Given the description of an element on the screen output the (x, y) to click on. 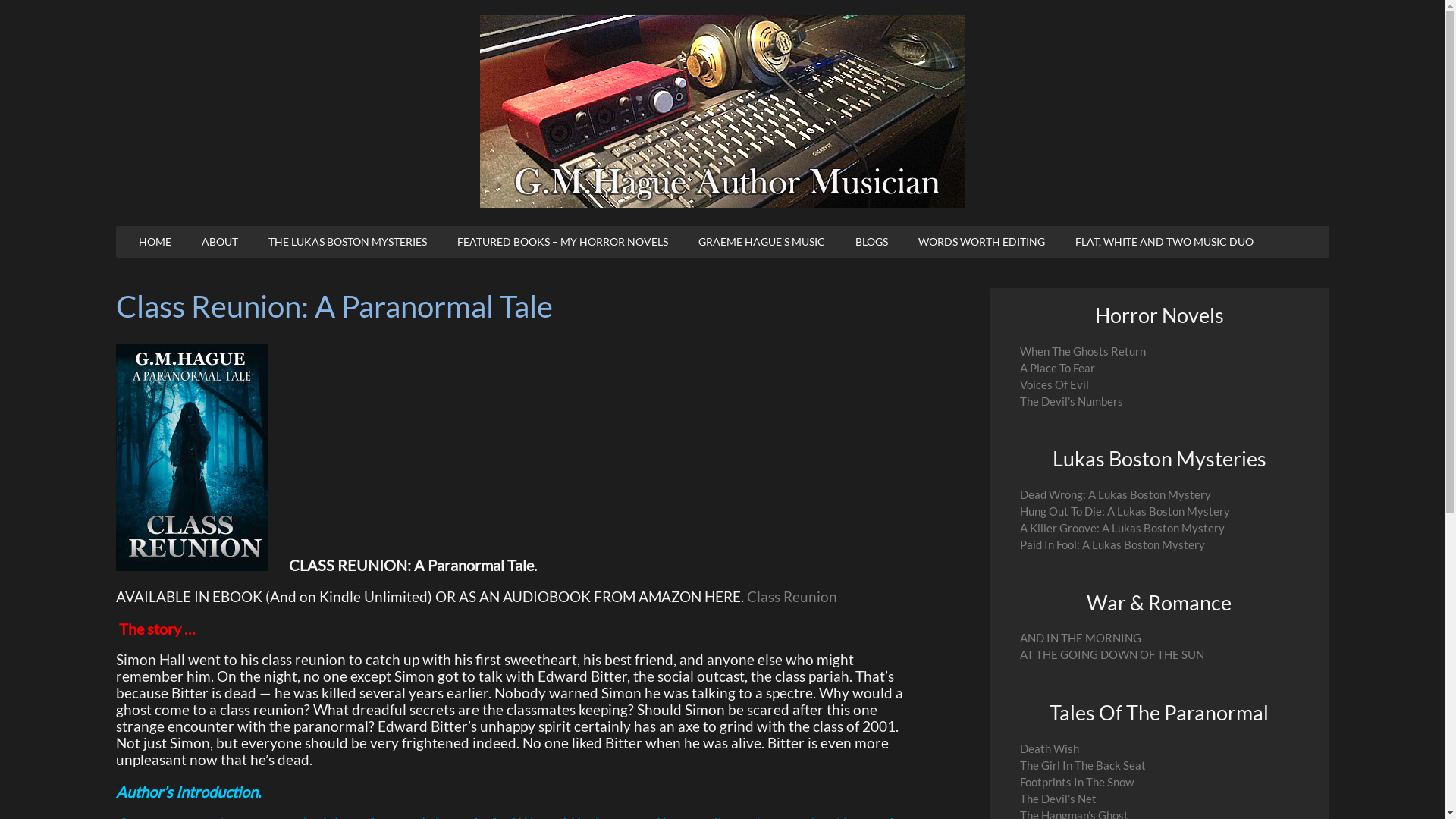
Death Wish Element type: text (1048, 748)
Dead Wrong: A Lukas Boston Mystery Element type: text (1114, 494)
Class Reunion: A Paranormal Tale Element type: text (333, 306)
Paid In Fool: A Lukas Boston Mystery Element type: text (1111, 544)
FLAT, WHITE AND TWO MUSIC DUO Element type: text (1164, 241)
AND IN THE MORNING Element type: text (1079, 637)
BLOGS Element type: text (871, 241)
A Killer Groove: A Lukas Boston Mystery Element type: text (1121, 527)
Footprints In The Snow Element type: text (1075, 781)
Class Reunion Element type: text (791, 596)
ABOUT Element type: text (219, 241)
When The Ghosts Return Element type: text (1082, 351)
Hung Out To Die: A Lukas Boston Mystery Element type: text (1124, 511)
WORDS WORTH EDITING Element type: text (980, 241)
THE LUKAS BOSTON MYSTERIES Element type: text (347, 241)
AT THE GOING DOWN OF THE SUN Element type: text (1111, 654)
HOME Element type: text (153, 241)
A Place To Fear Element type: text (1056, 367)
Voices Of Evil Element type: text (1053, 384)
The Girl In The Back Seat Element type: text (1082, 765)
